Given the description of an element on the screen output the (x, y) to click on. 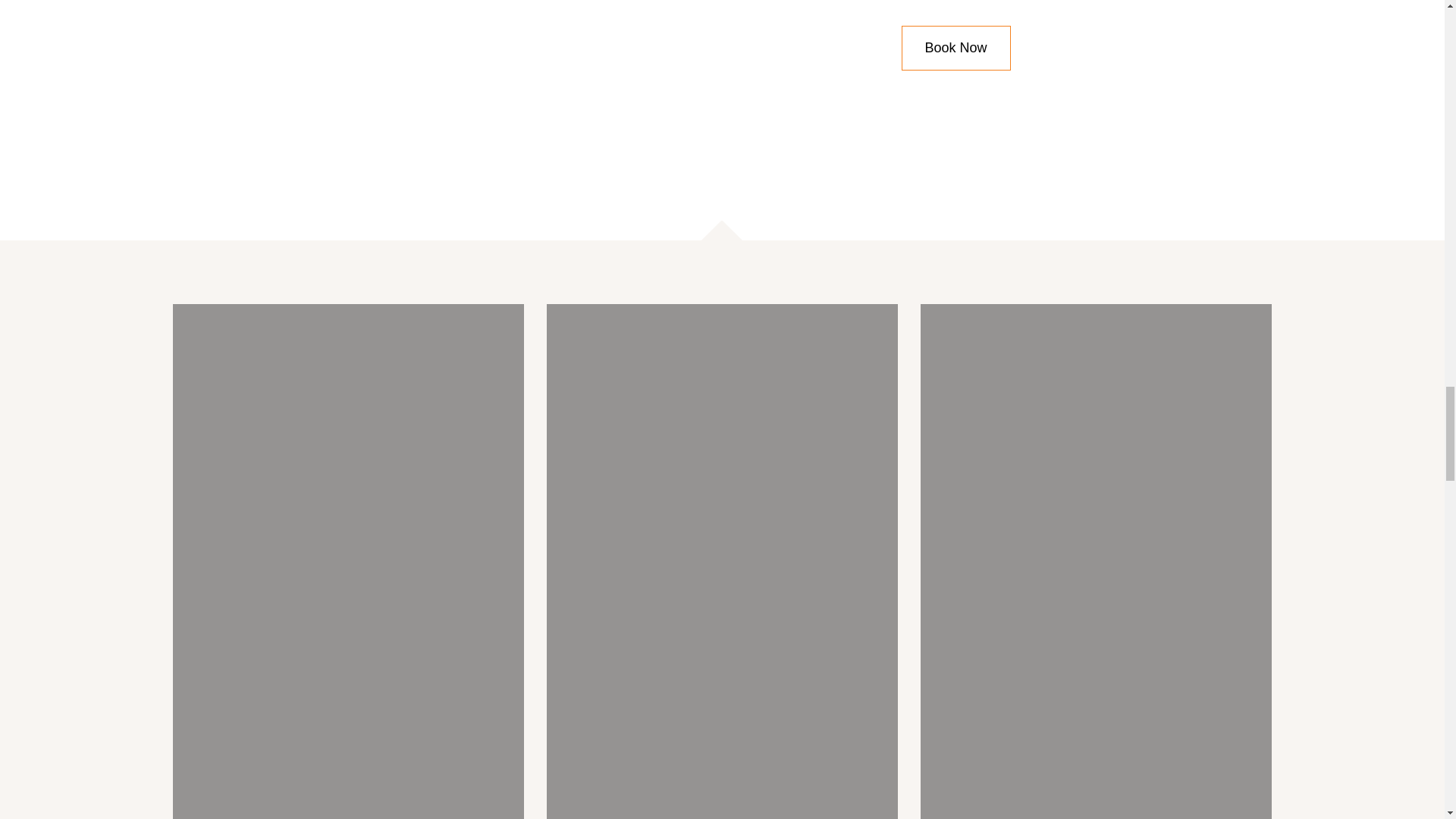
Book Now (955, 47)
